Given the description of an element on the screen output the (x, y) to click on. 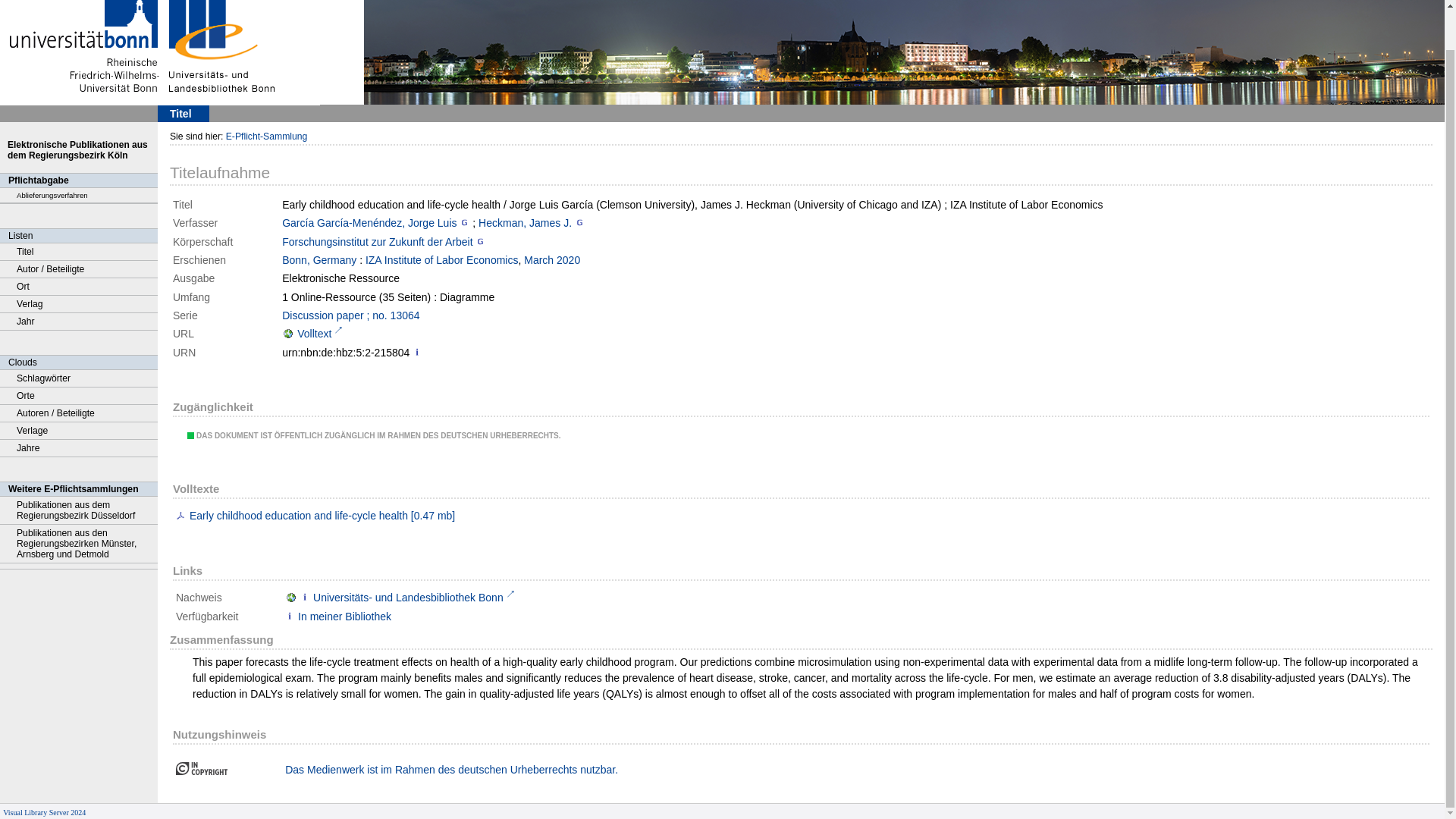
Heckman, James J. (525, 223)
IZA Institute of Labor Economics (441, 259)
Jahr (78, 321)
E-Pflicht-Sammlung (266, 136)
Forschungsinstitut zur Zukunft der Arbeit (376, 241)
Orte (78, 395)
Titel (78, 252)
March 2020 (551, 259)
Verlag (78, 303)
Discussion paper ; no. 13064 (350, 315)
Bonn, Germany (319, 259)
Ablieferungsverfahren (78, 195)
Jahre (78, 448)
Ort (78, 286)
Volltext (312, 333)
